Given the description of an element on the screen output the (x, y) to click on. 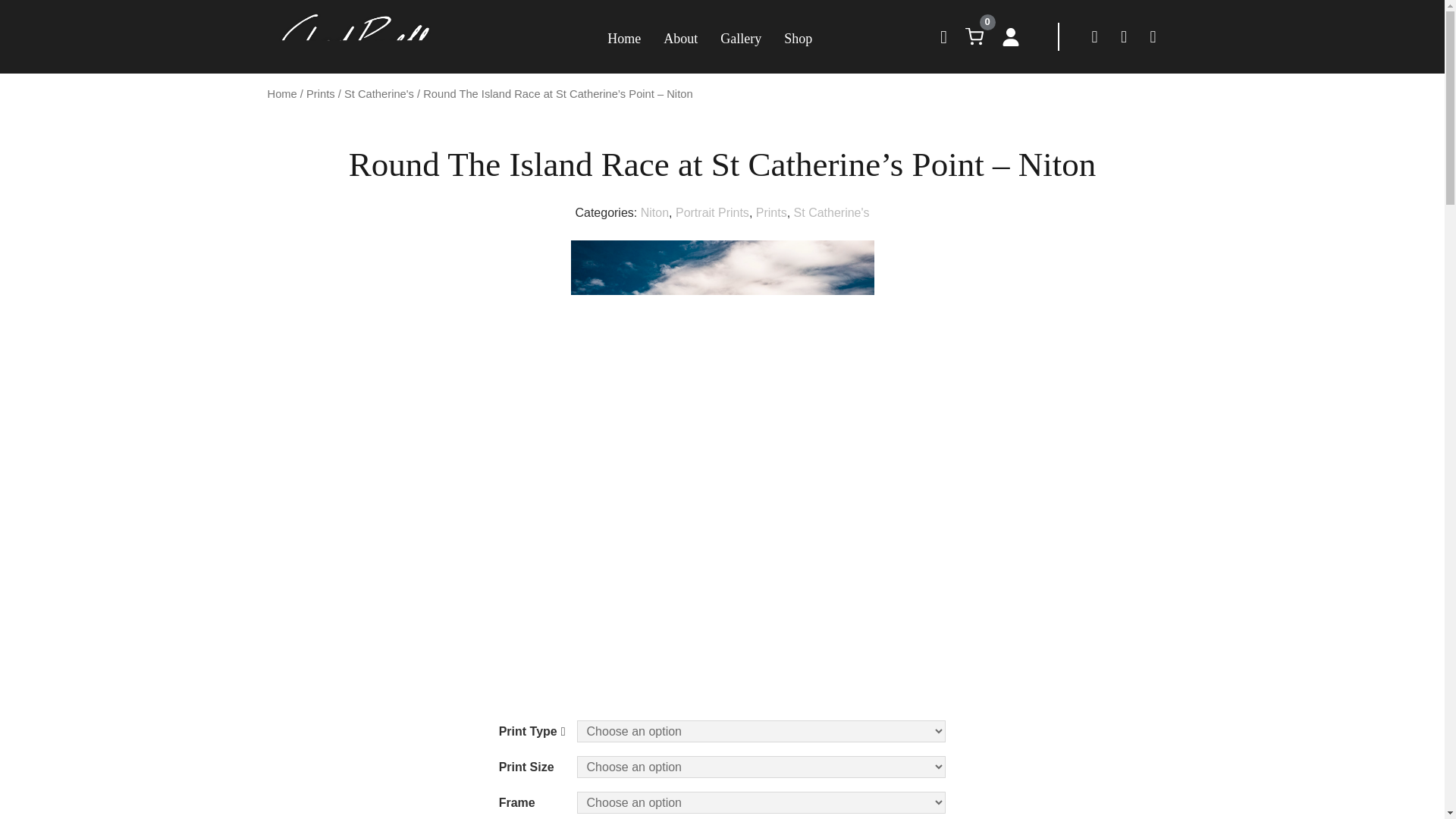
Facebook (1094, 35)
Gallery (740, 38)
Instagram (1123, 35)
Home (623, 38)
View your shopping cart (974, 35)
Shop (798, 38)
About (680, 38)
Your account (1010, 35)
